Given the description of an element on the screen output the (x, y) to click on. 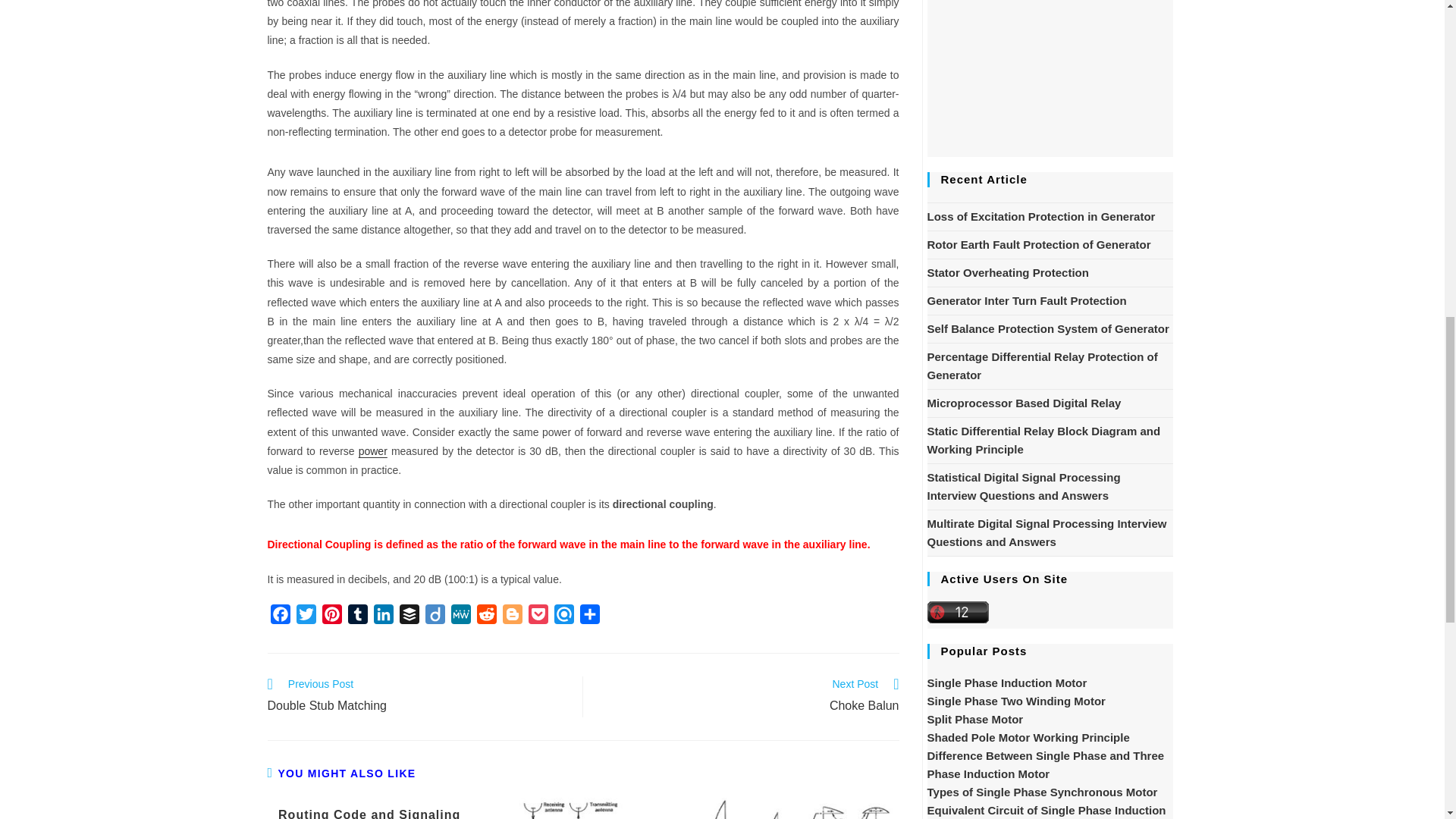
Pocket (537, 616)
Reddit (486, 616)
MeWe (459, 616)
Diigo (434, 616)
Blogger (511, 616)
Twitter (305, 616)
Buffer (409, 616)
Facebook (279, 616)
LinkedIn (382, 616)
Tumblr (356, 616)
Pinterest (330, 616)
